Given the description of an element on the screen output the (x, y) to click on. 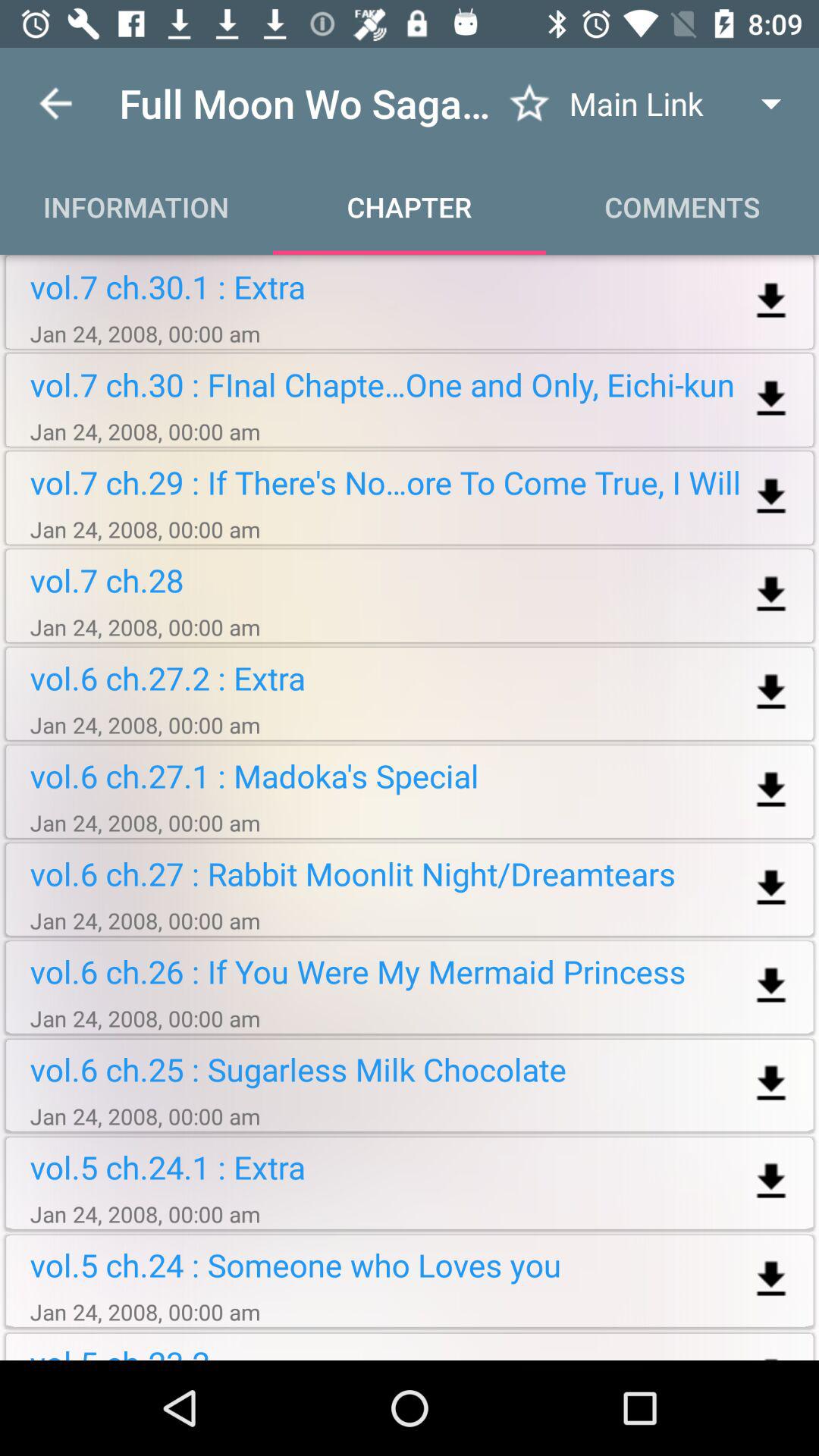
download button (771, 986)
